Given the description of an element on the screen output the (x, y) to click on. 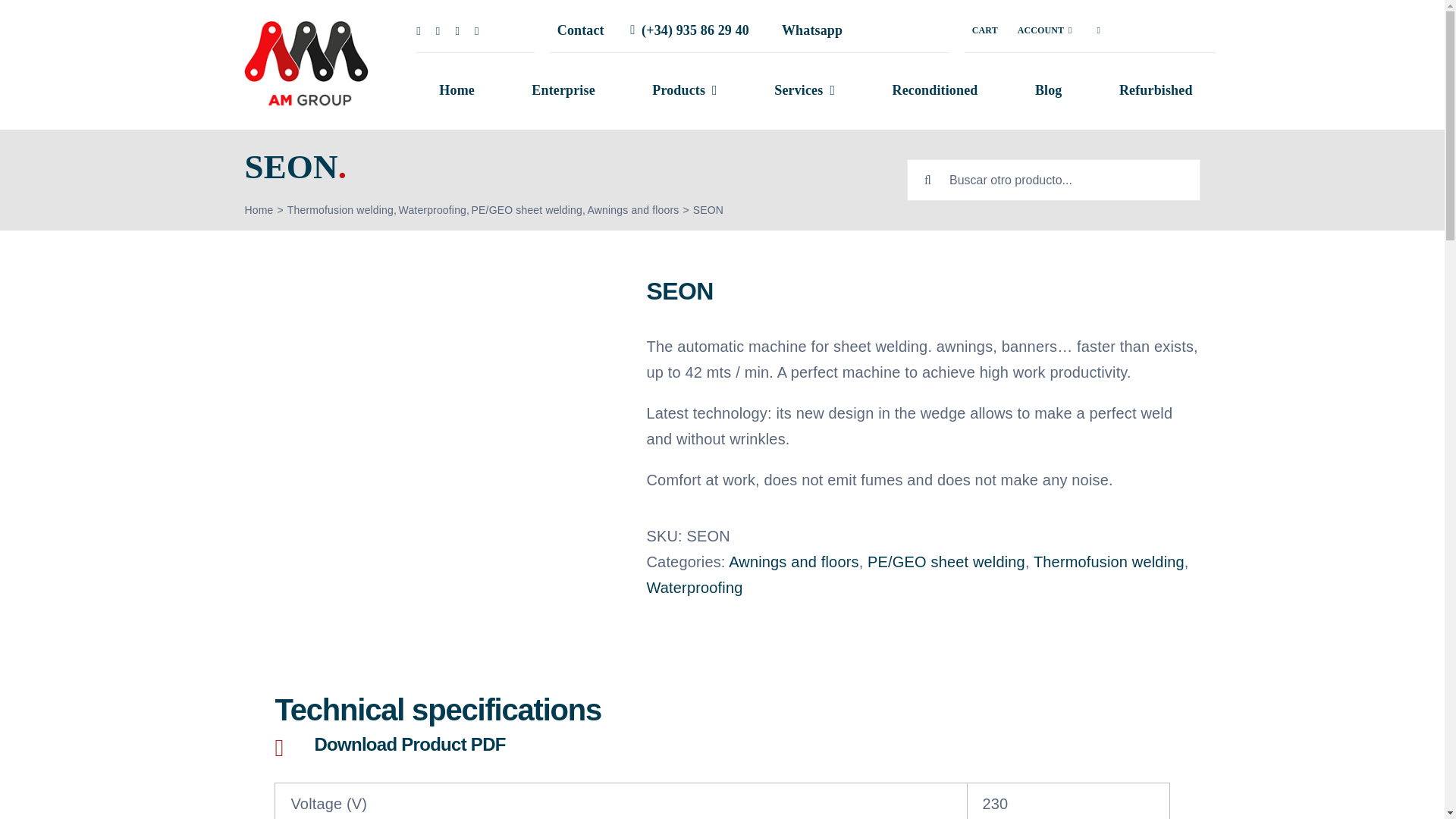
CART (984, 30)
ACCOUNT (1045, 30)
Services (805, 90)
Reconditioned (935, 90)
Blog (1048, 90)
Log In (1071, 226)
Enterprise (563, 90)
Seon 1 (309, 64)
Whatsapp (805, 30)
Contact (580, 30)
